Given the description of an element on the screen output the (x, y) to click on. 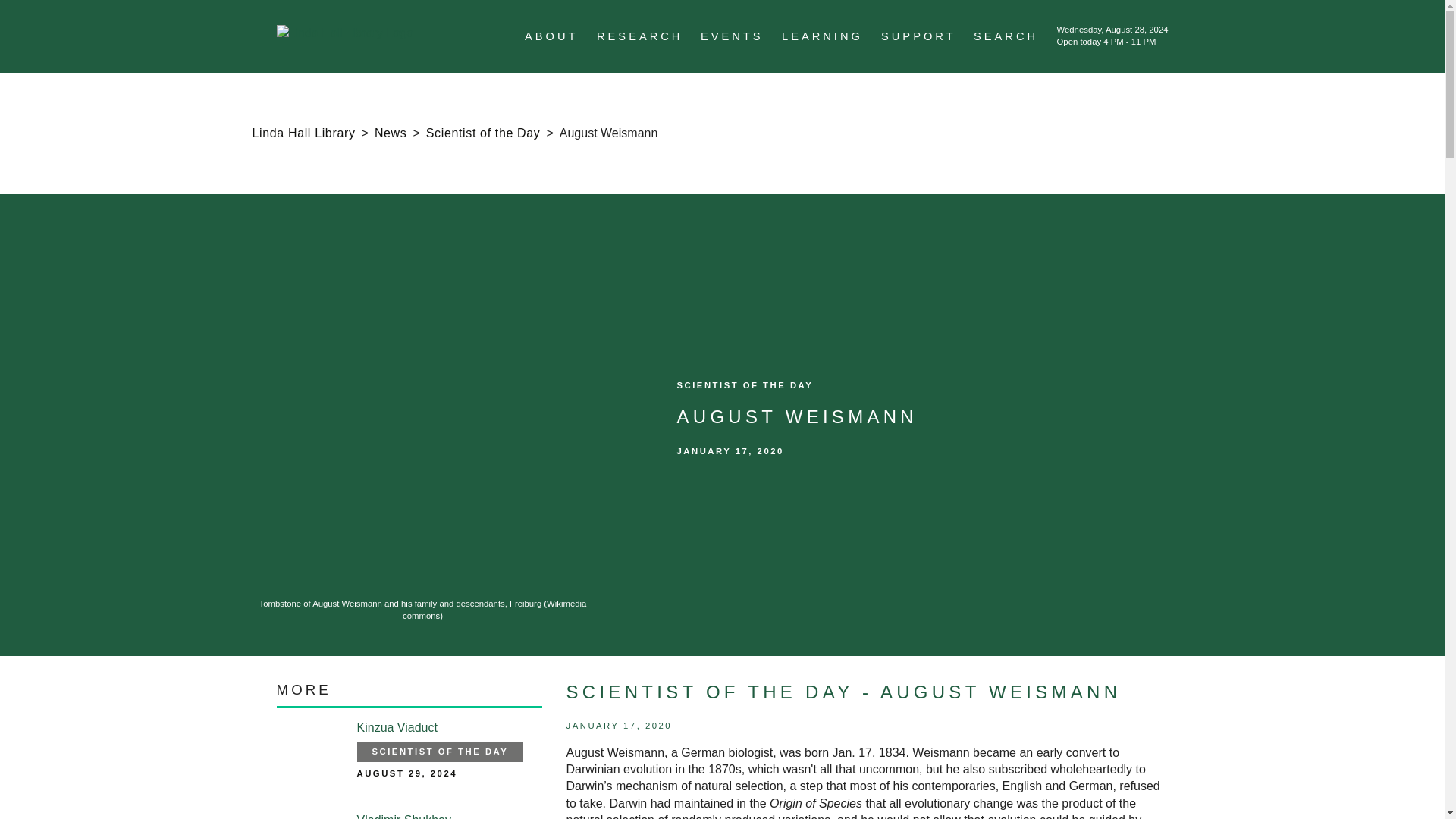
LEARNING (822, 36)
RESEARCH (639, 36)
ABOUT (551, 36)
EVENTS (731, 36)
